Given the description of an element on the screen output the (x, y) to click on. 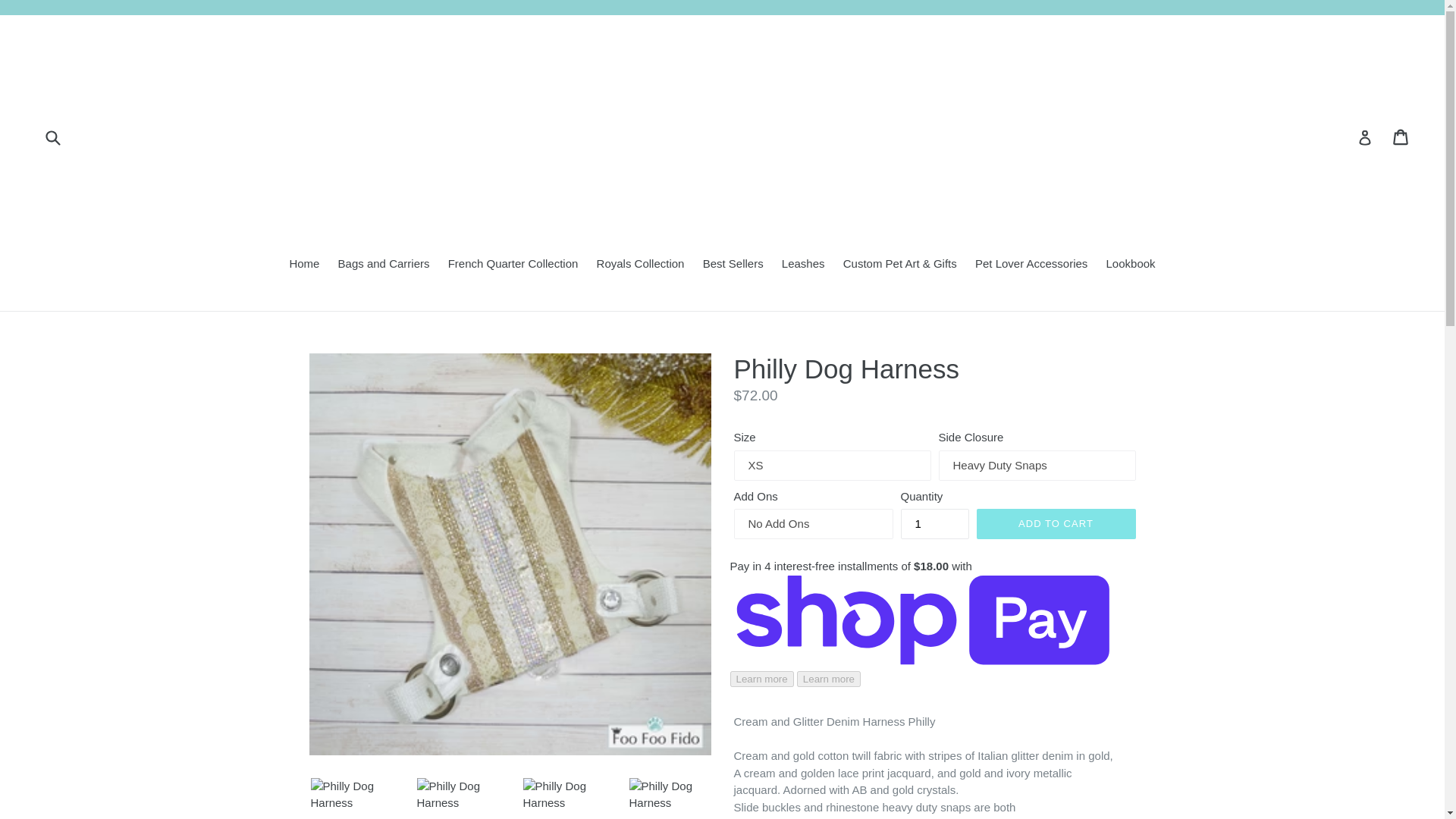
Bags and Carriers (384, 265)
Leashes (803, 265)
1 (935, 523)
Pet Lover Accessories (1031, 265)
ADD TO CART (1055, 523)
Best Sellers (733, 265)
French Quarter Collection (513, 265)
Royals Collection (641, 265)
Lookbook (1131, 265)
Home (303, 265)
